Given the description of an element on the screen output the (x, y) to click on. 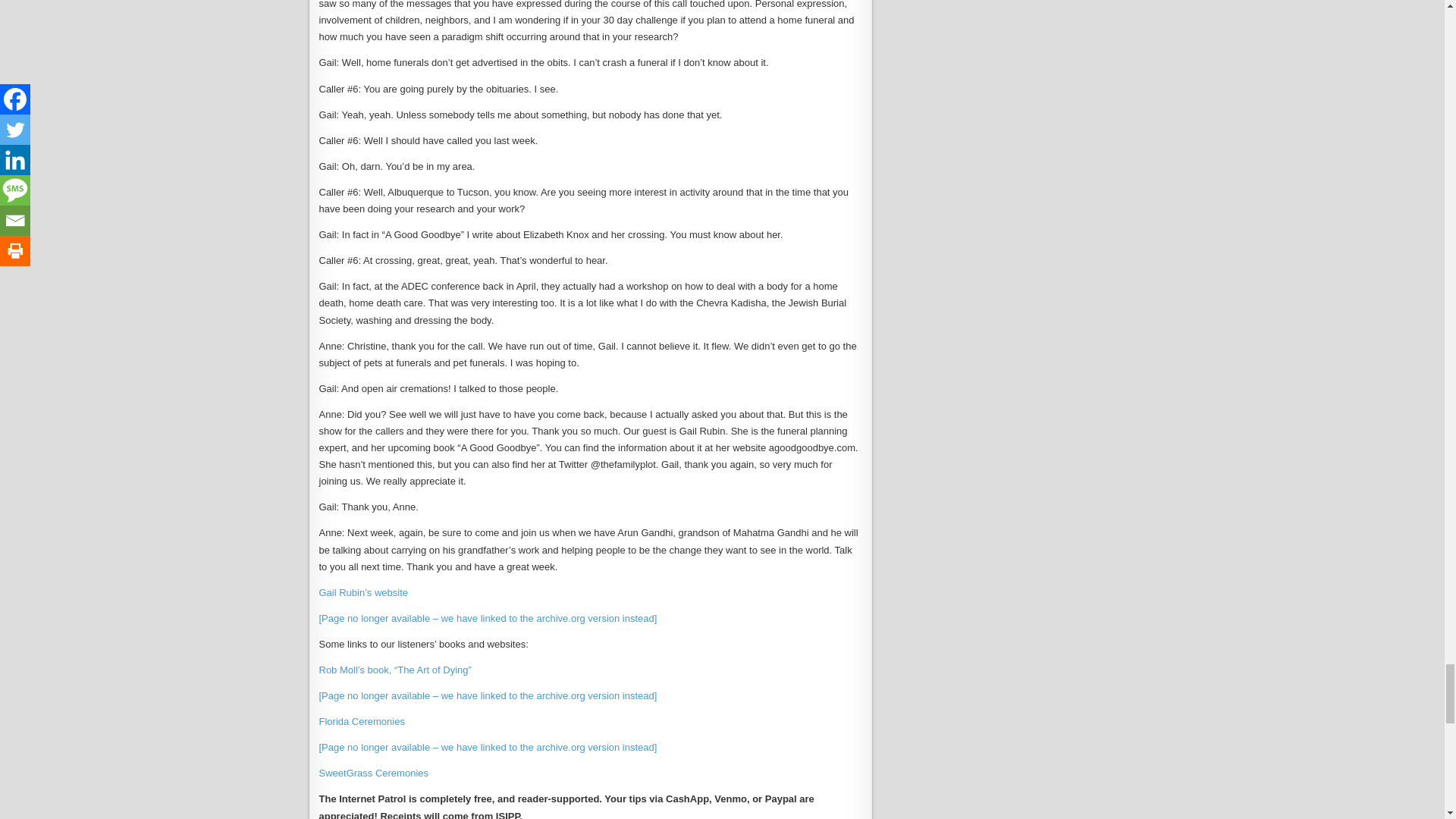
SweetGrass Ceremonies (373, 772)
Florida Ceremonies (361, 721)
